Given the description of an element on the screen output the (x, y) to click on. 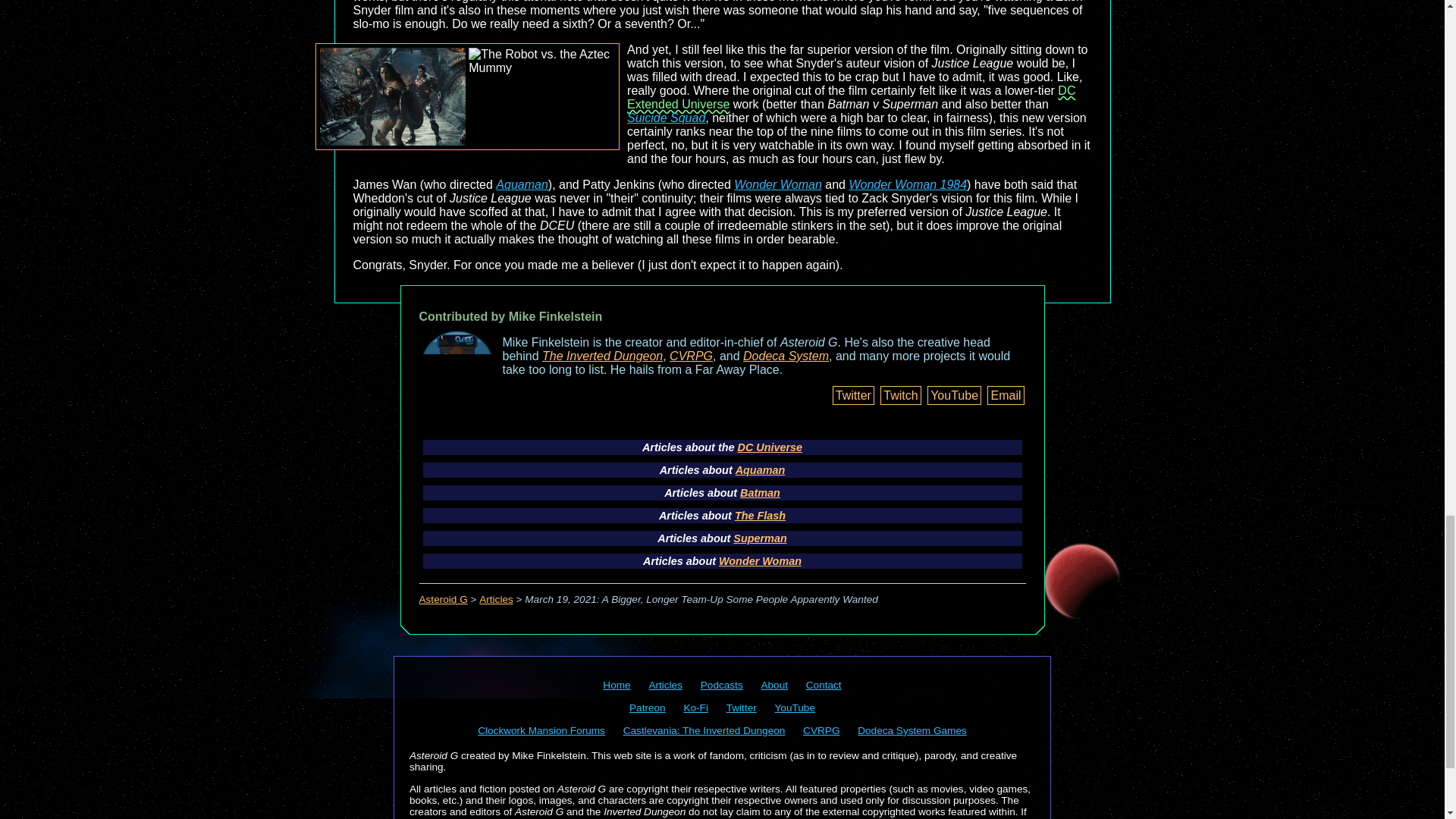
Donate on Patreon (646, 707)
CVRPG (691, 355)
Email (1005, 394)
Contact (823, 685)
Follow Asteroid G on Twitter (741, 707)
CVRPG (821, 730)
Aquaman (522, 184)
The Inverted Dungeon (601, 355)
DC Extended Universe (851, 97)
Twitch (900, 394)
